Given the description of an element on the screen output the (x, y) to click on. 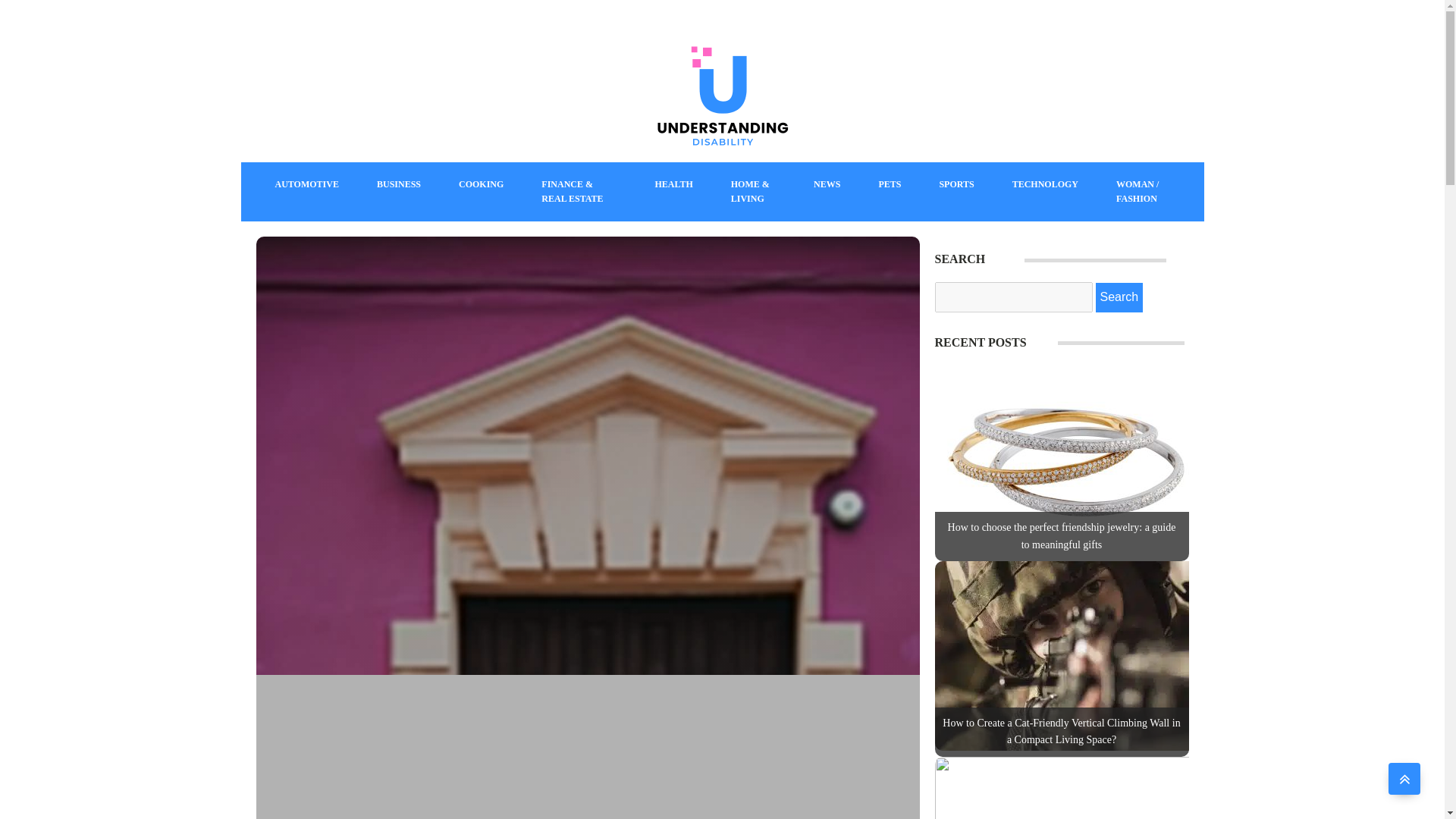
COOKING (480, 184)
NEWS (826, 184)
SPORTS (956, 184)
BUSINESS (398, 184)
PETS (889, 184)
HEALTH (672, 184)
AUTOMOTIVE (307, 184)
